Given the description of an element on the screen output the (x, y) to click on. 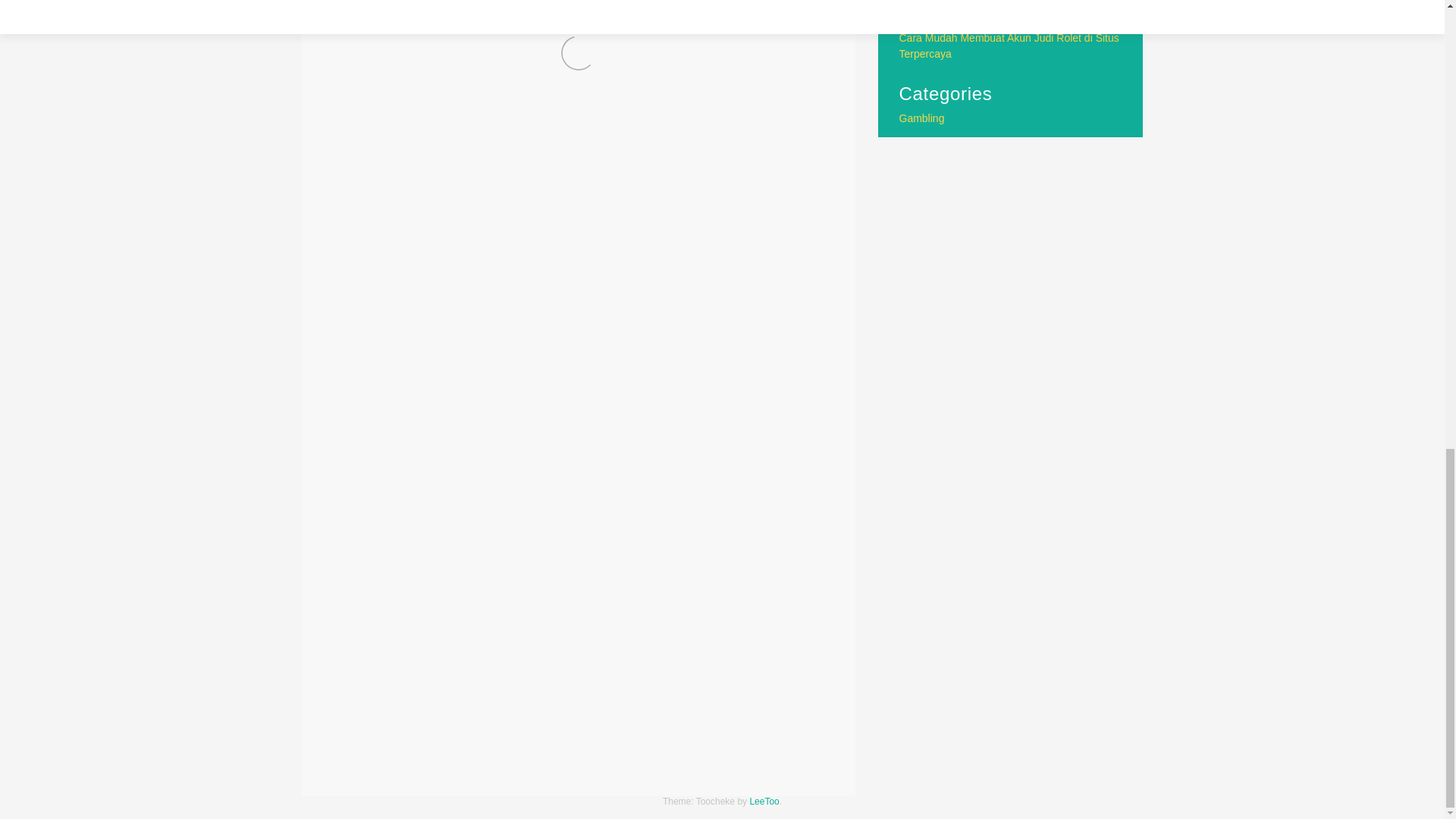
pengeluaran hk hari ini (604, 701)
toto hk (706, 722)
toto hk hari ini (770, 722)
toto hongkong (362, 744)
Gambling (403, 680)
togel hongkong hari ini (620, 722)
pengeluaran hongkong (734, 701)
togel hongkong (511, 722)
data hk (499, 680)
result hongkong (420, 722)
